Given the description of an element on the screen output the (x, y) to click on. 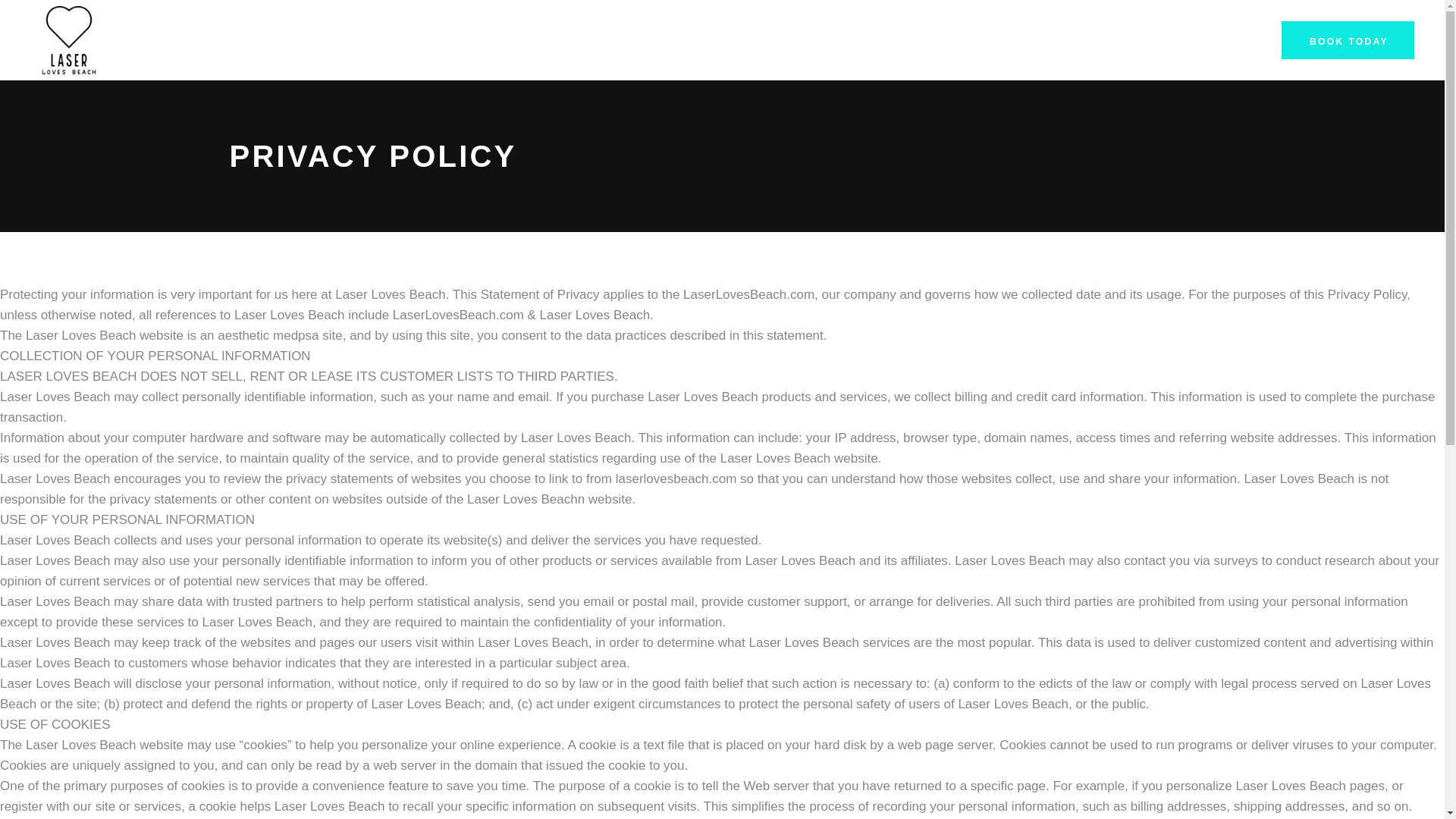
BOOK TODAY (1347, 39)
